Given the description of an element on the screen output the (x, y) to click on. 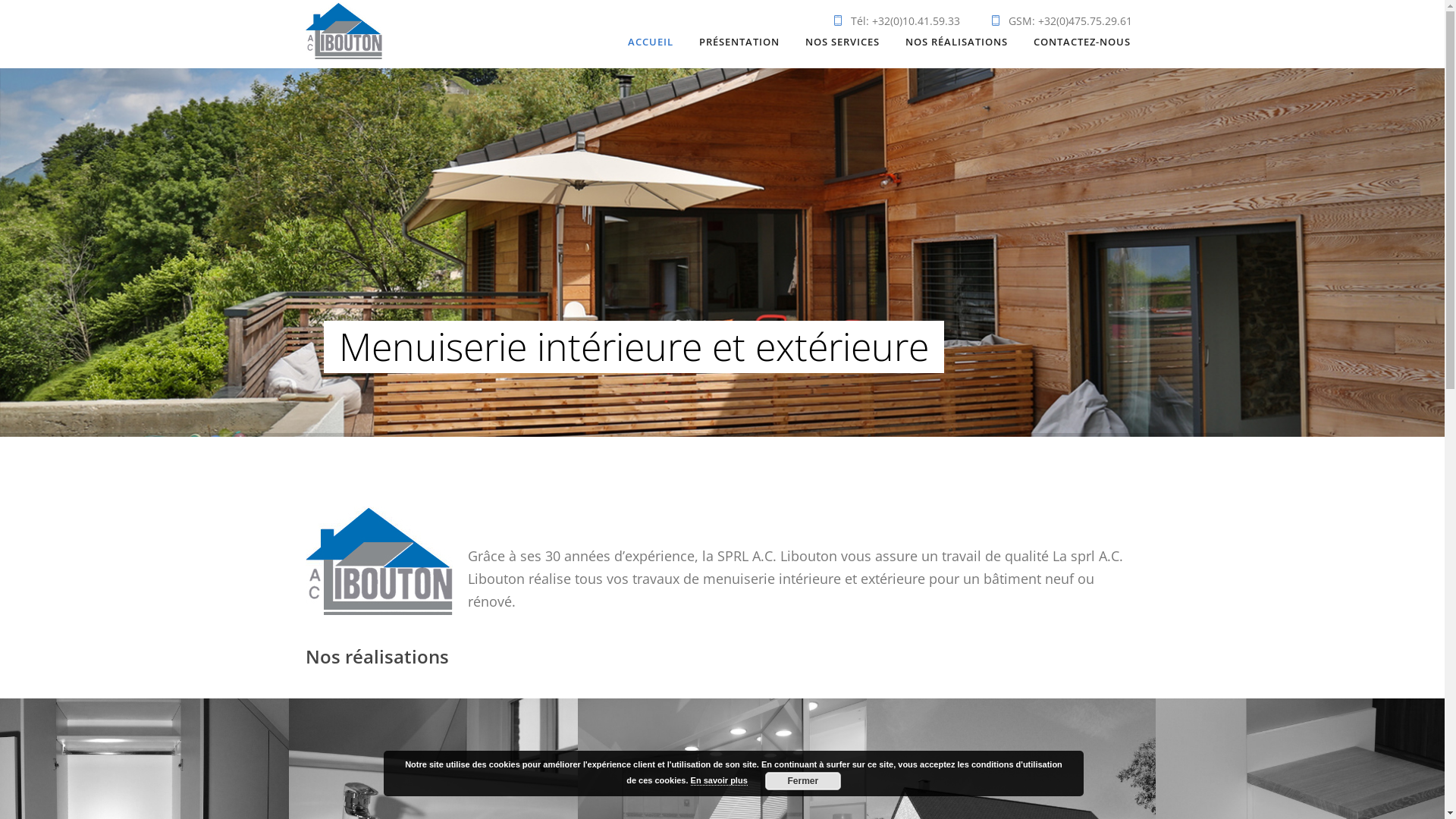
Fermer Element type: text (802, 780)
ACCUEIL Element type: text (650, 41)
En savoir plus Element type: text (718, 780)
NOS SERVICES Element type: text (842, 41)
CONTACTEZ-NOUS Element type: text (1081, 41)
